Given the description of an element on the screen output the (x, y) to click on. 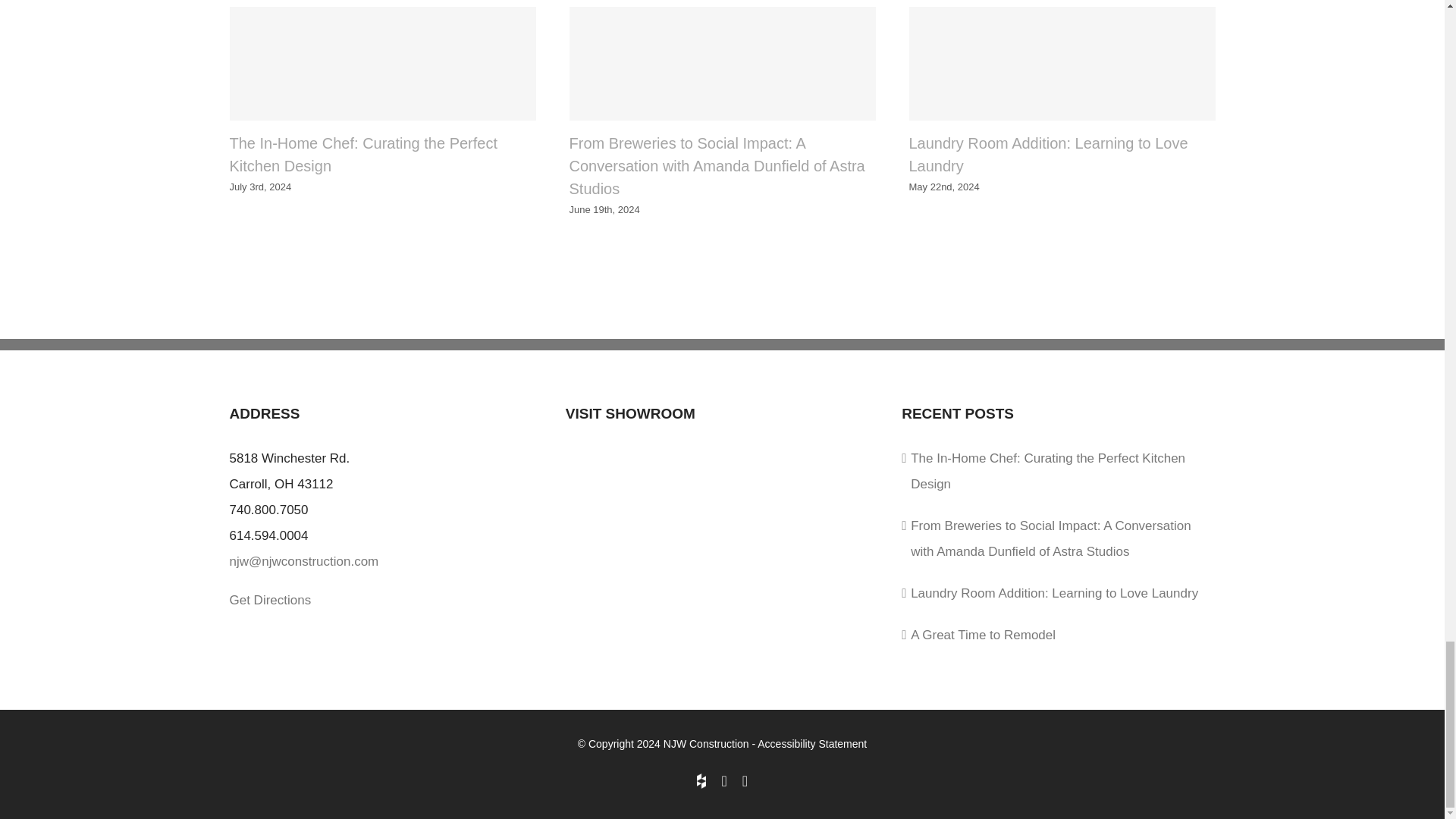
Laundry Room Addition: Learning to Love Laundry (1048, 154)
The In-Home Chef: Curating the Perfect Kitchen Design (362, 154)
